Given the description of an element on the screen output the (x, y) to click on. 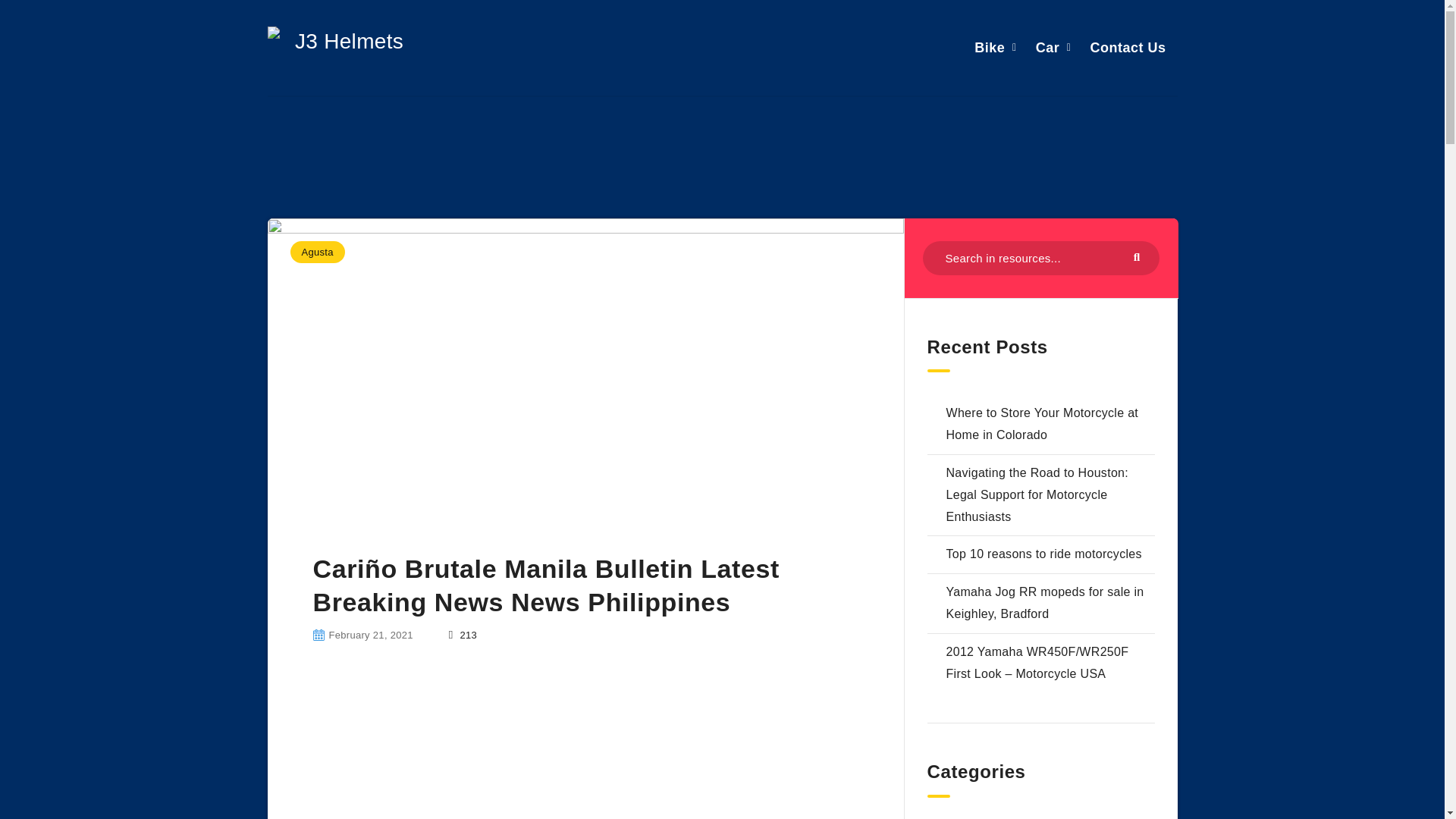
213 (462, 634)
Bike (989, 47)
Contact Us (1127, 47)
Advertisement (584, 750)
Agusta (316, 251)
Car (1047, 47)
